Given the description of an element on the screen output the (x, y) to click on. 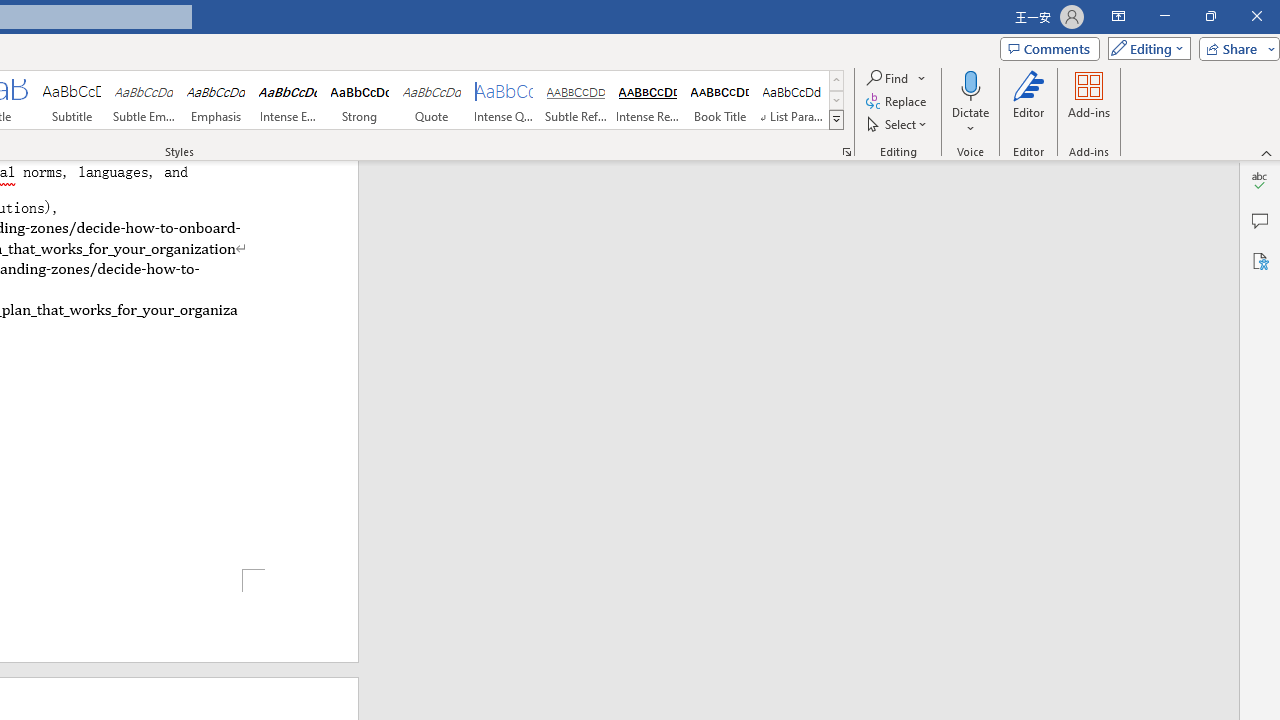
Book Title (719, 100)
Quote (431, 100)
Replace... (897, 101)
Strong (359, 100)
Row up (836, 79)
Styles... (846, 151)
Subtle Reference (575, 100)
Styles (836, 120)
